Given the description of an element on the screen output the (x, y) to click on. 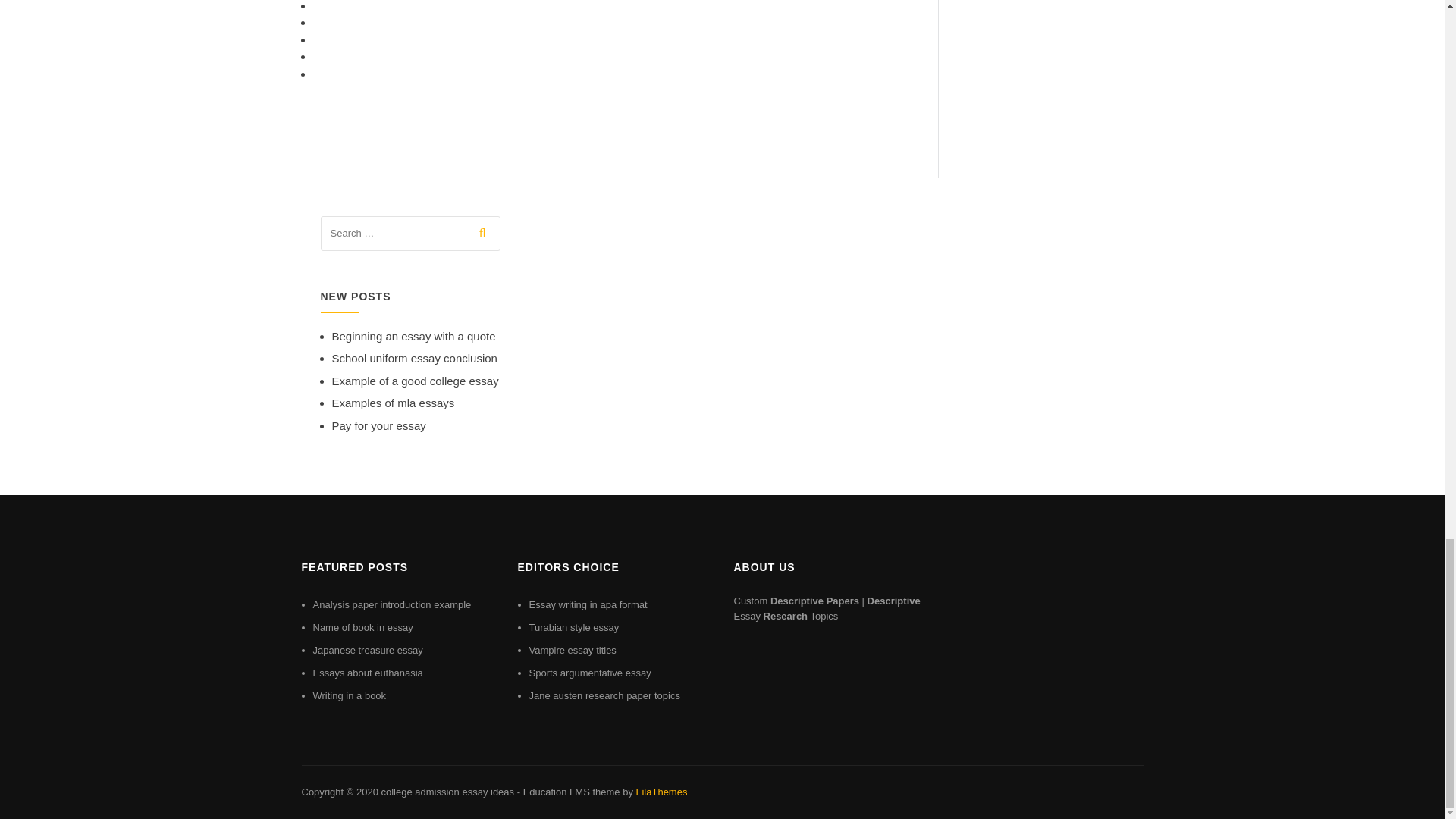
Japanese treasure essay (367, 650)
School uniform essay conclusion (414, 358)
Sports argumentative essay (589, 672)
Example of a good college essay (415, 380)
Examples of mla essays (392, 402)
college admission essay ideas (446, 791)
Pay for your essay (378, 425)
Essays about euthanasia (367, 672)
Jane austen research paper topics (604, 695)
Vampire essay titles (572, 650)
